Given the description of an element on the screen output the (x, y) to click on. 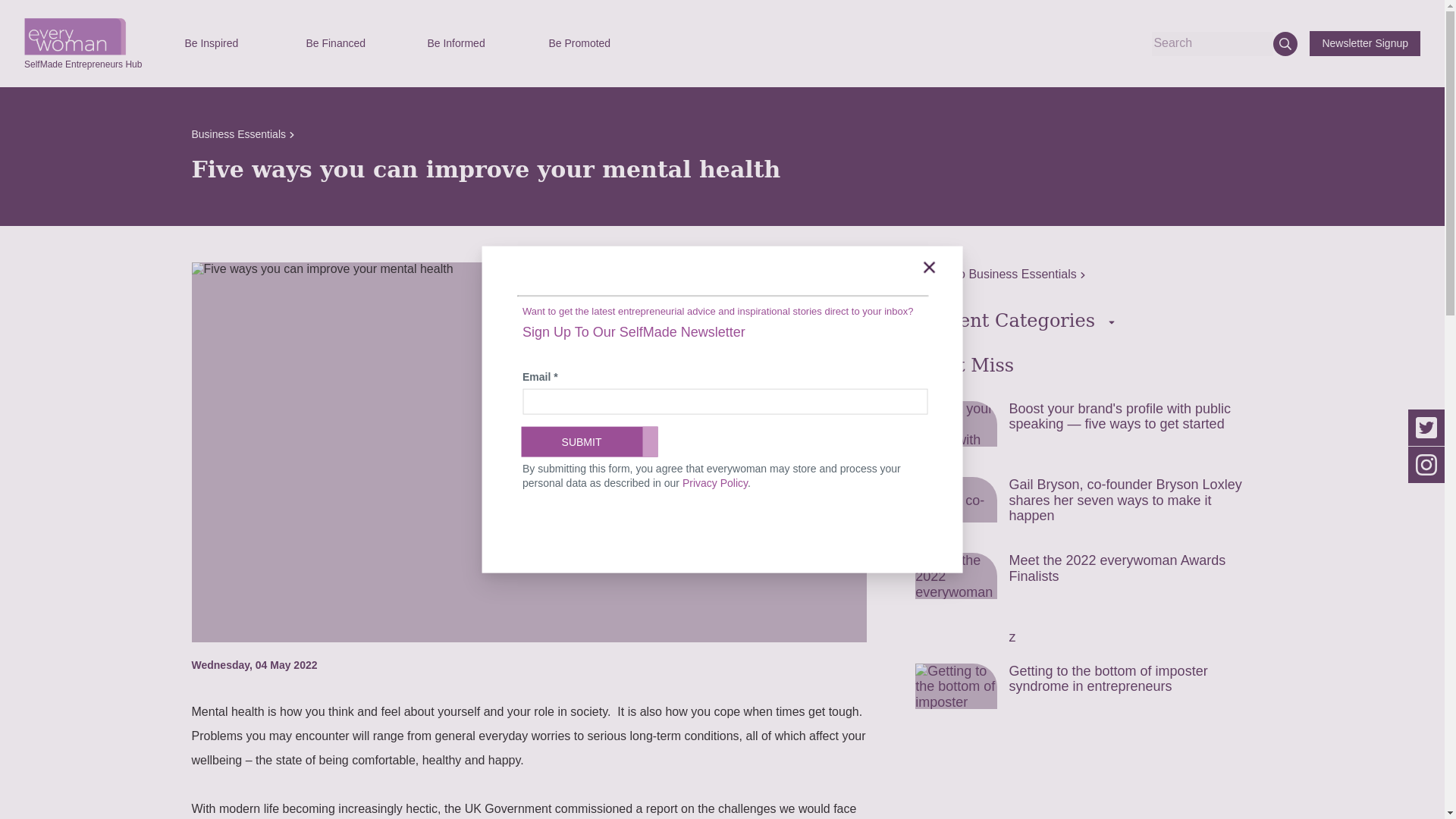
Be Informed (474, 43)
Be Financed (354, 43)
Meet the 2022 everywoman Awards Finalists (1083, 584)
Business Essentials (242, 133)
z (1083, 640)
Be Inspired (232, 43)
Be Promoted (596, 43)
Newsletter Signup (1364, 43)
Getting to the bottom of imposter syndrome in entrepreneurs (1083, 695)
Return to Business Essentials (1000, 273)
SelfMade Entrepreneurs Hub (82, 56)
